Given the description of an element on the screen output the (x, y) to click on. 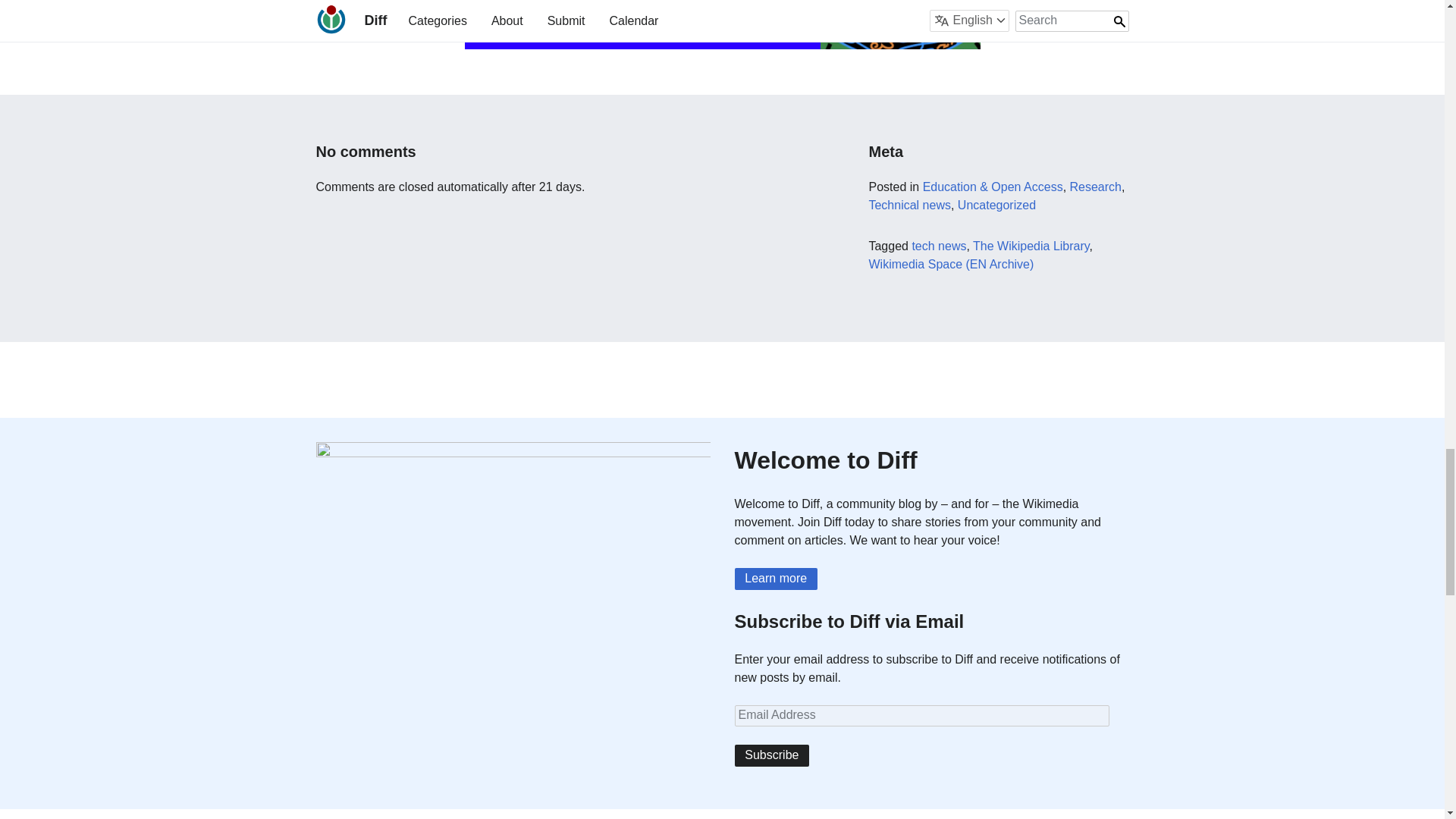
Uncategorized (996, 205)
Research (1095, 186)
The Wikipedia Library (1030, 245)
Subscribe (771, 755)
Technical news (908, 205)
Learn more (774, 578)
tech news (938, 245)
Start translation (534, 16)
